Given the description of an element on the screen output the (x, y) to click on. 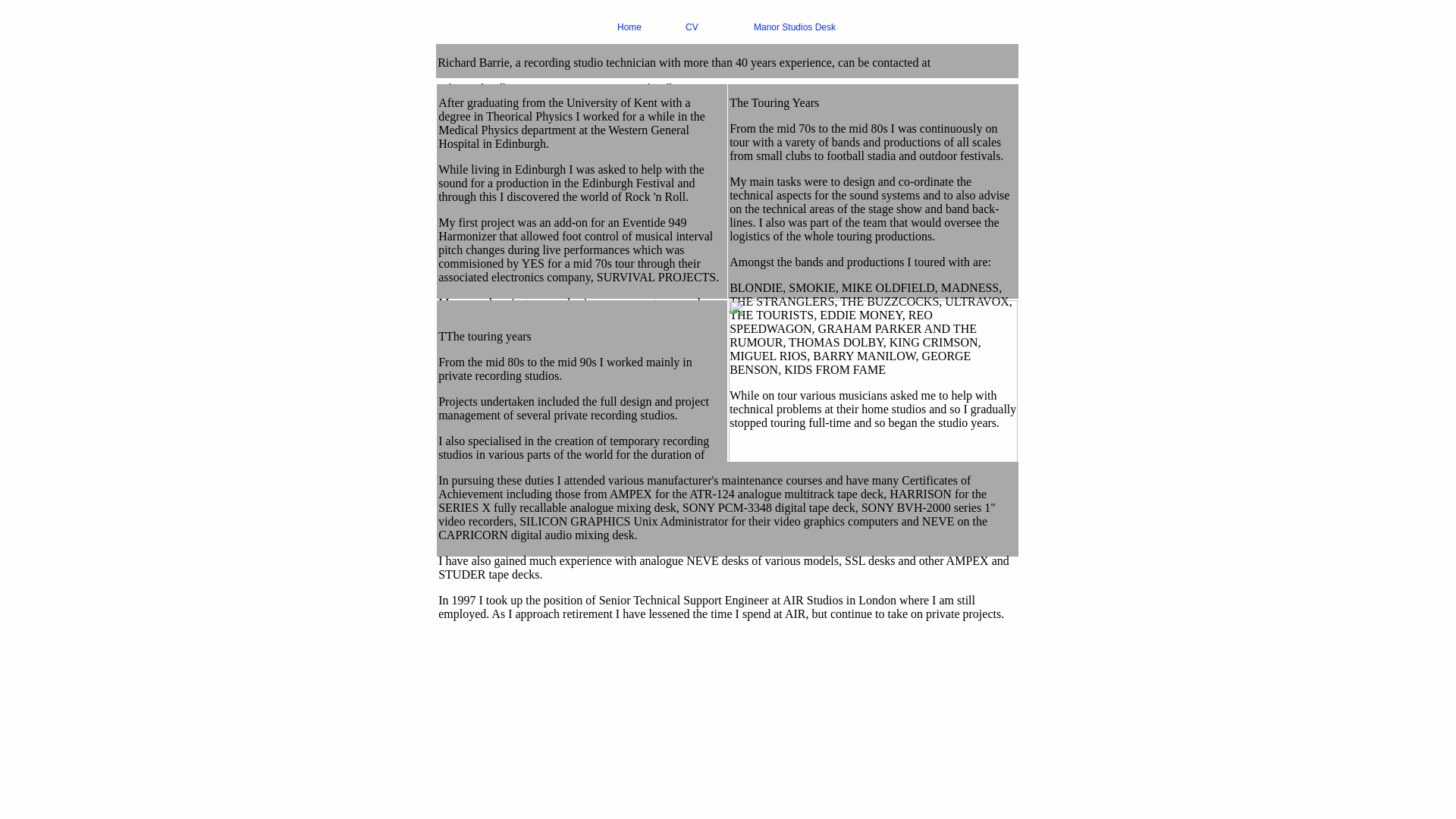
Home (644, 26)
Manor Studios Desk (794, 26)
CV (712, 26)
www.richardbarrie.com (664, 88)
